Given the description of an element on the screen output the (x, y) to click on. 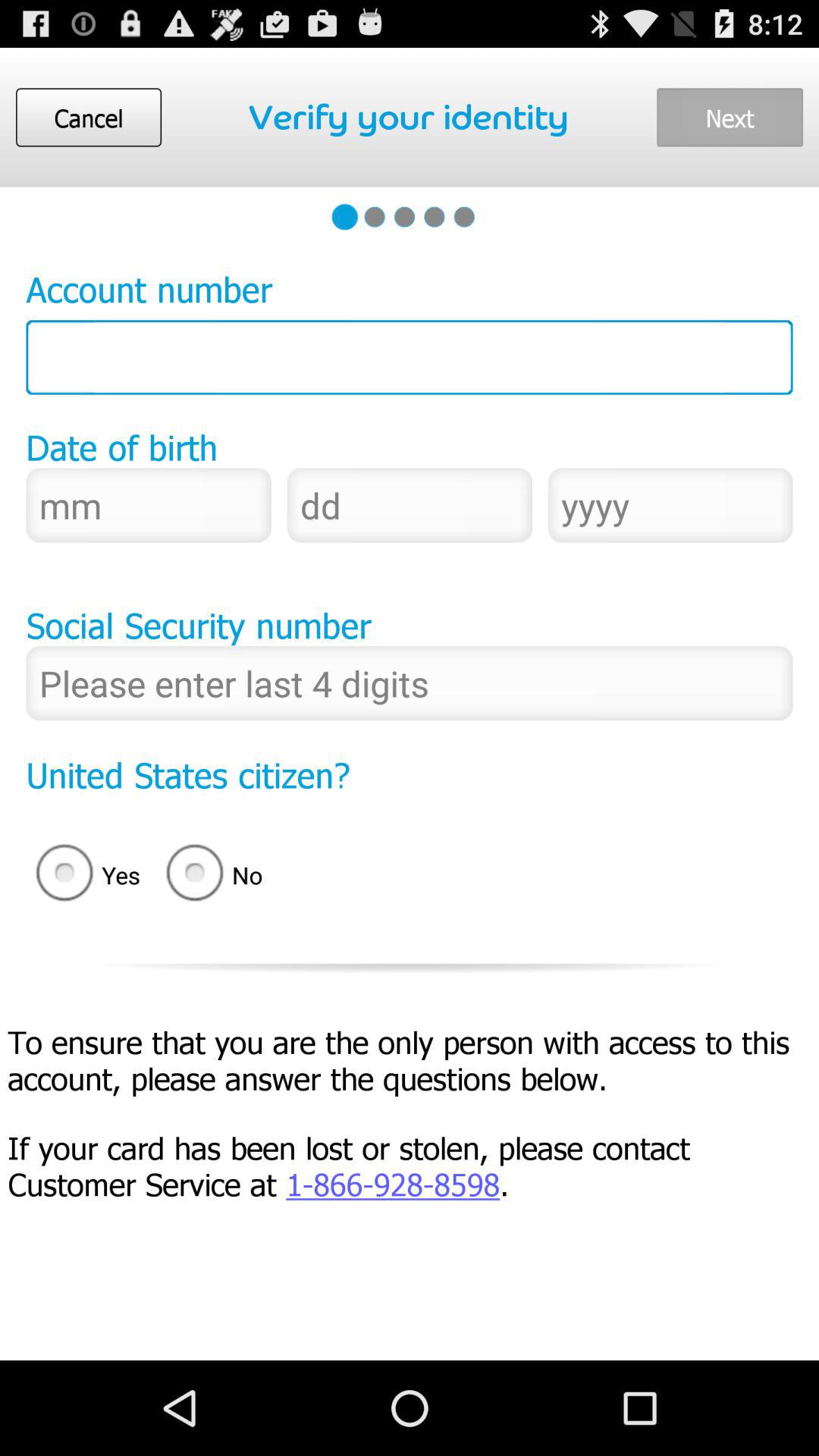
select radio button next to no icon (83, 875)
